Given the description of an element on the screen output the (x, y) to click on. 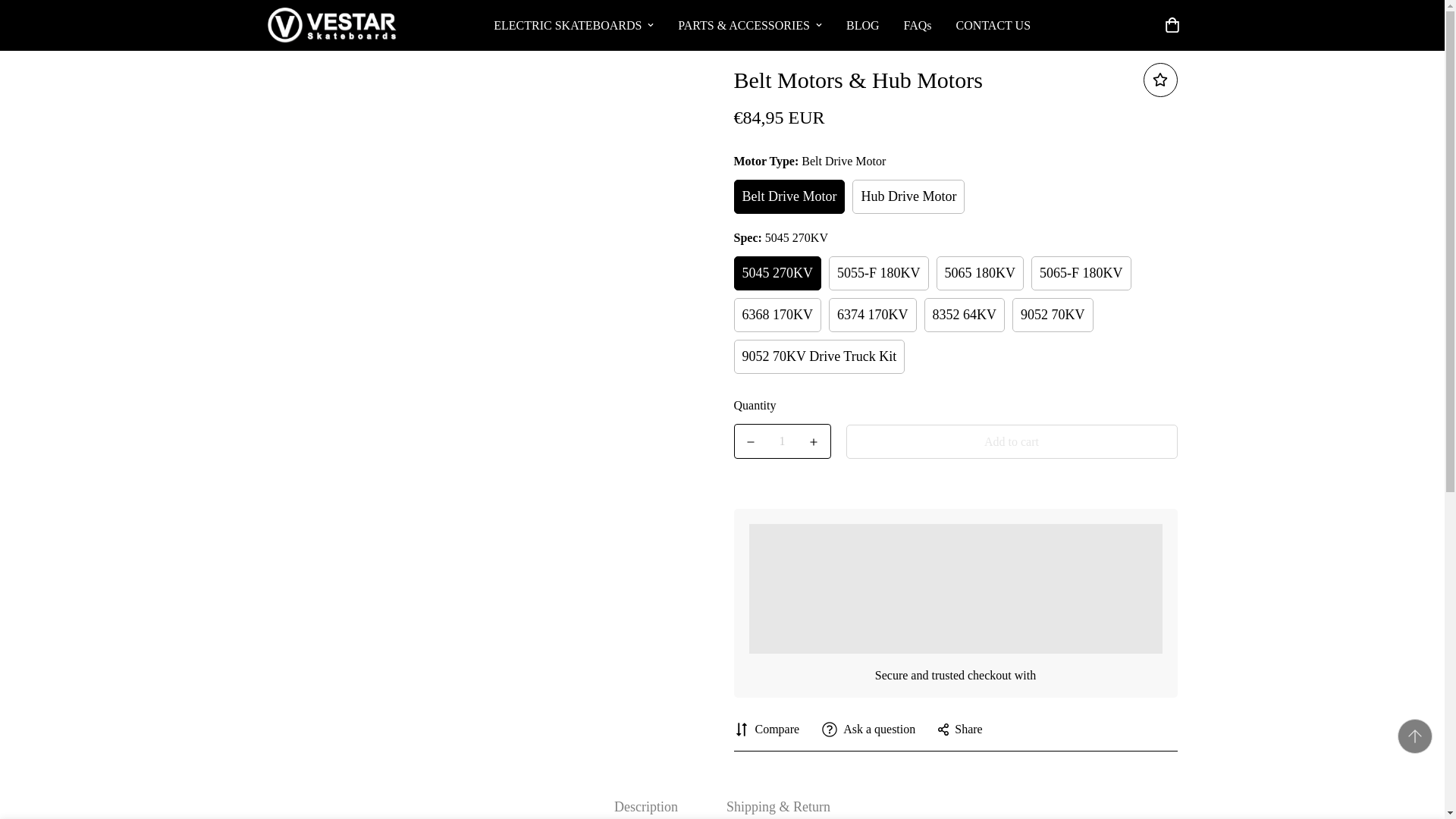
Vestar Skateboards (331, 25)
CONTACT US (992, 25)
FAQs (917, 25)
BLOG (862, 25)
ELECTRIC SKATEBOARDS (573, 25)
